Given the description of an element on the screen output the (x, y) to click on. 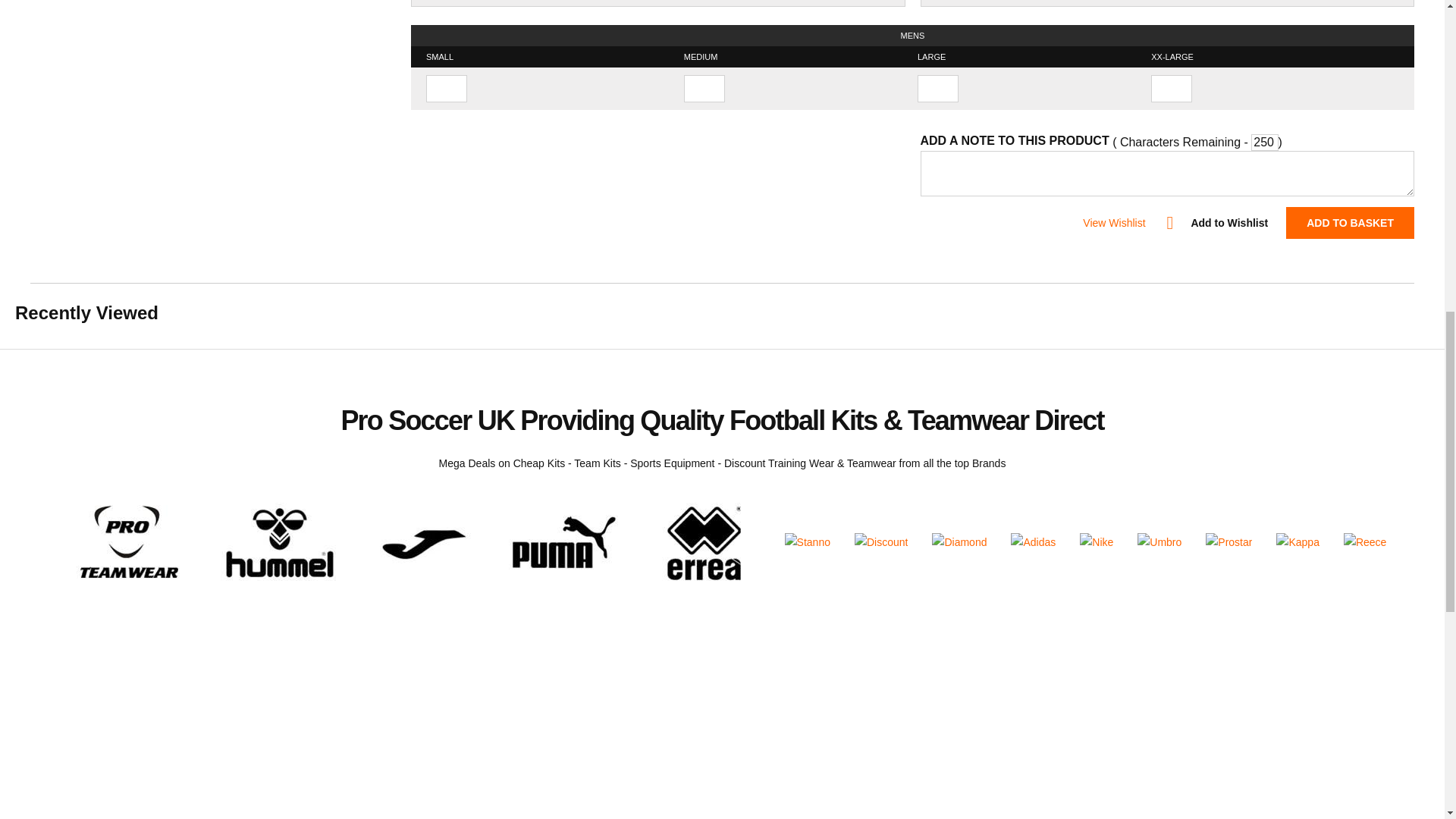
250 (1264, 142)
